Given the description of an element on the screen output the (x, y) to click on. 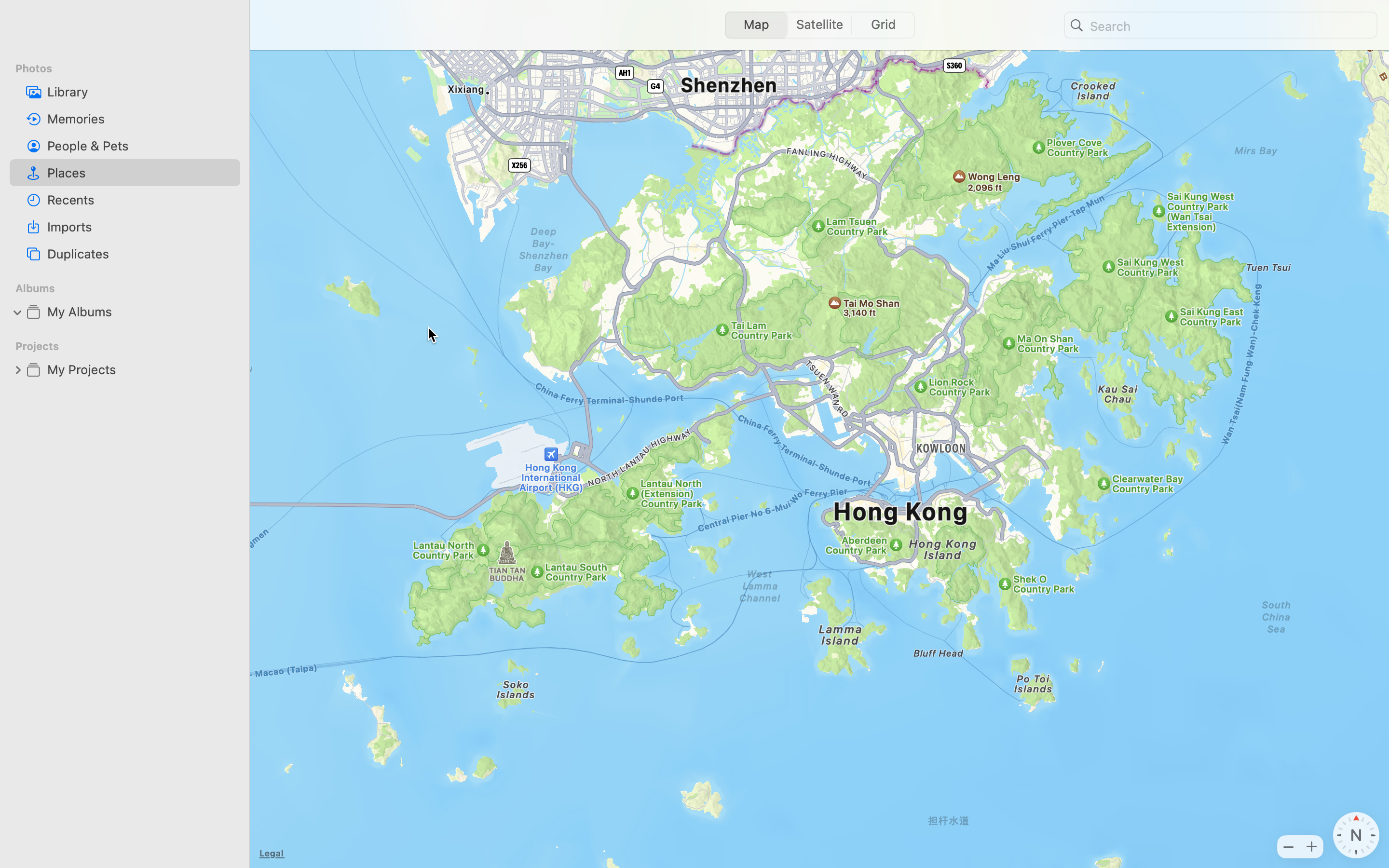
Projects Element type: AXStaticText (130, 345)
People & Pets Element type: AXStaticText (139, 145)
<AXUIElement 0x11dac76f0> {pid=1091} Element type: AXRadioGroup (819, 24)
Duplicates Element type: AXStaticText (139, 253)
Recents Element type: AXStaticText (139, 199)
